Given the description of an element on the screen output the (x, y) to click on. 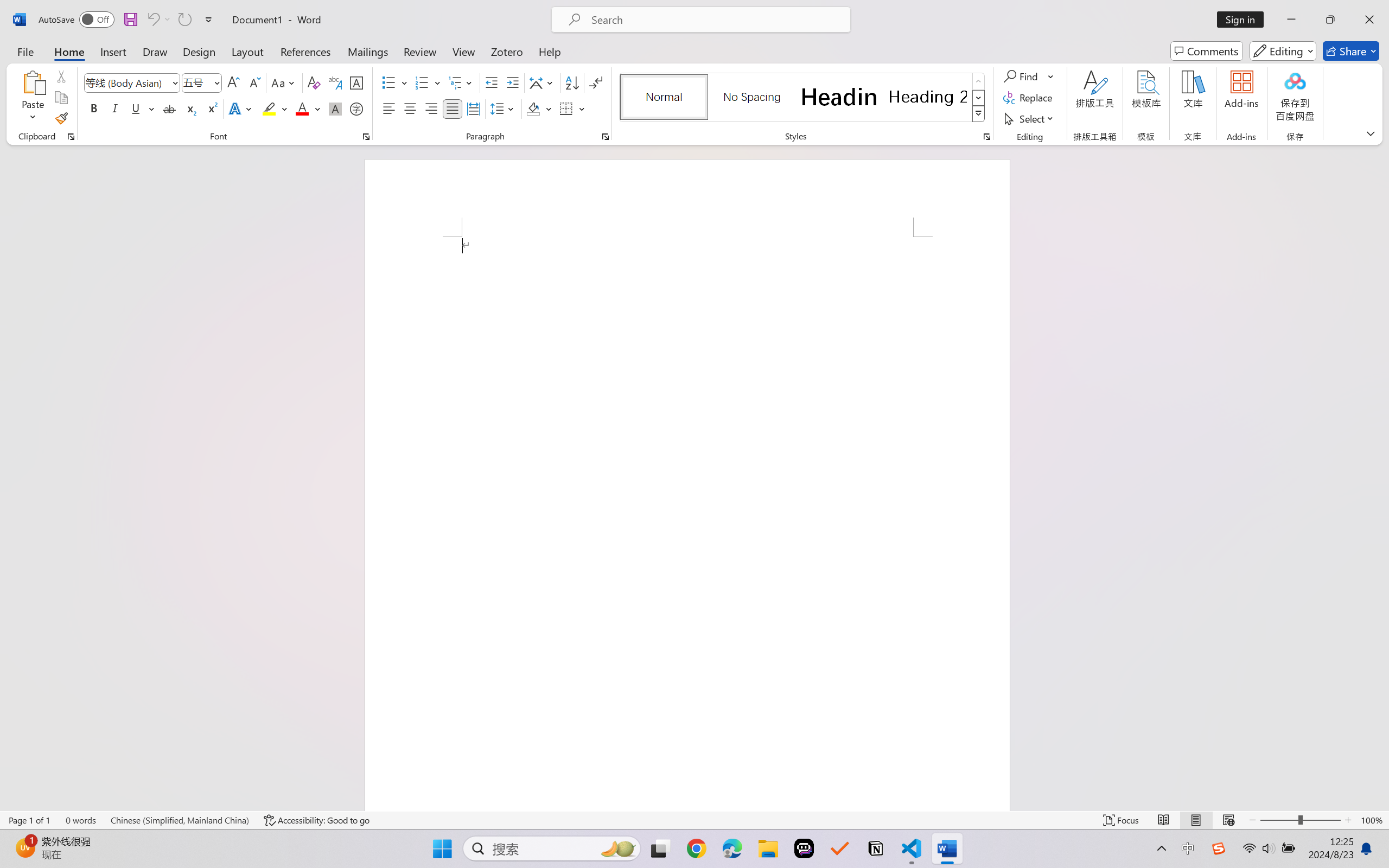
Can't Repeat (184, 19)
Can't Undo (158, 19)
